Given the description of an element on the screen output the (x, y) to click on. 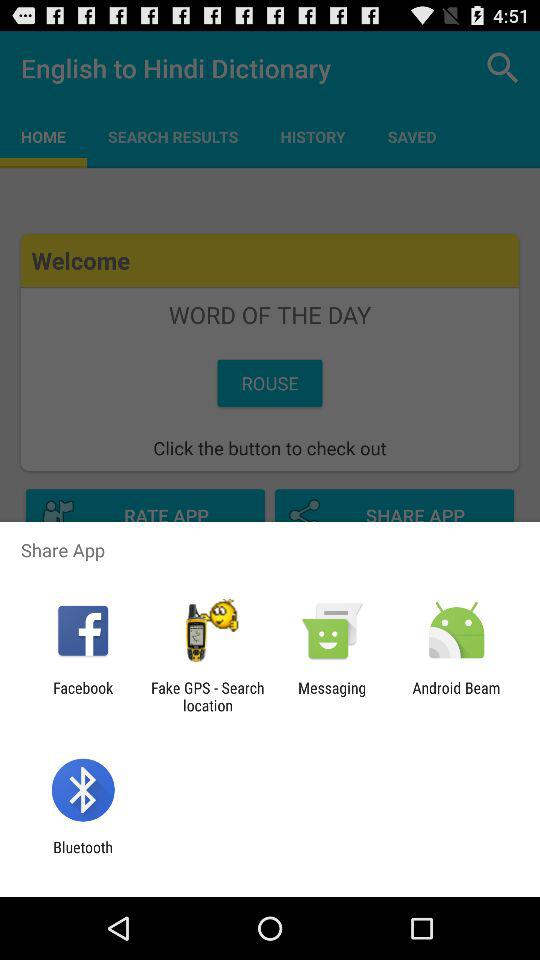
choose app next to android beam (332, 696)
